Given the description of an element on the screen output the (x, y) to click on. 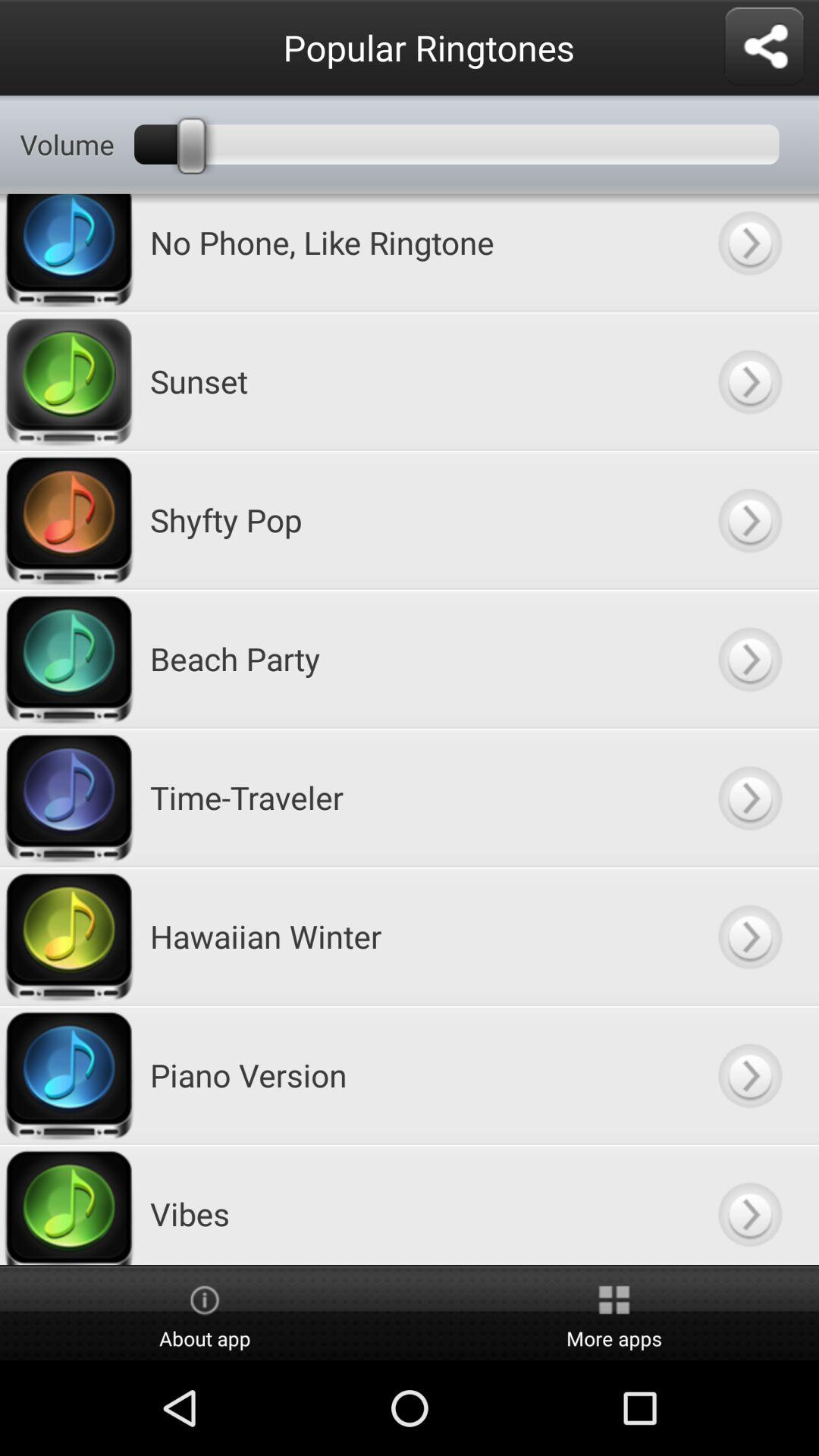
hawaiian winder (749, 936)
